Given the description of an element on the screen output the (x, y) to click on. 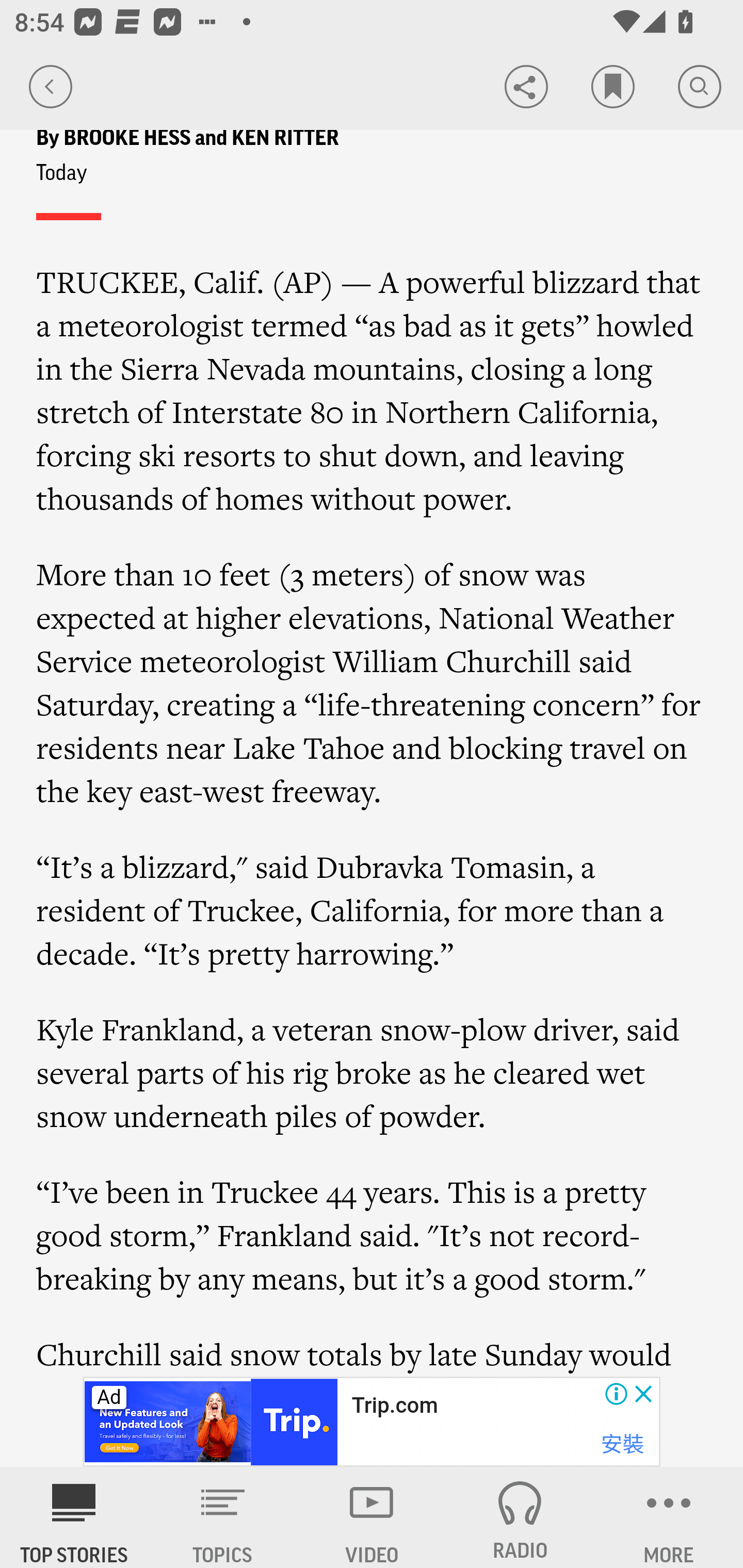
Hang Seng Invest Express (476, 1405)
安裝 (621, 1444)
AP News TOP STORIES (74, 1517)
TOPICS (222, 1517)
VIDEO (371, 1517)
RADIO (519, 1517)
MORE (668, 1517)
